Given the description of an element on the screen output the (x, y) to click on. 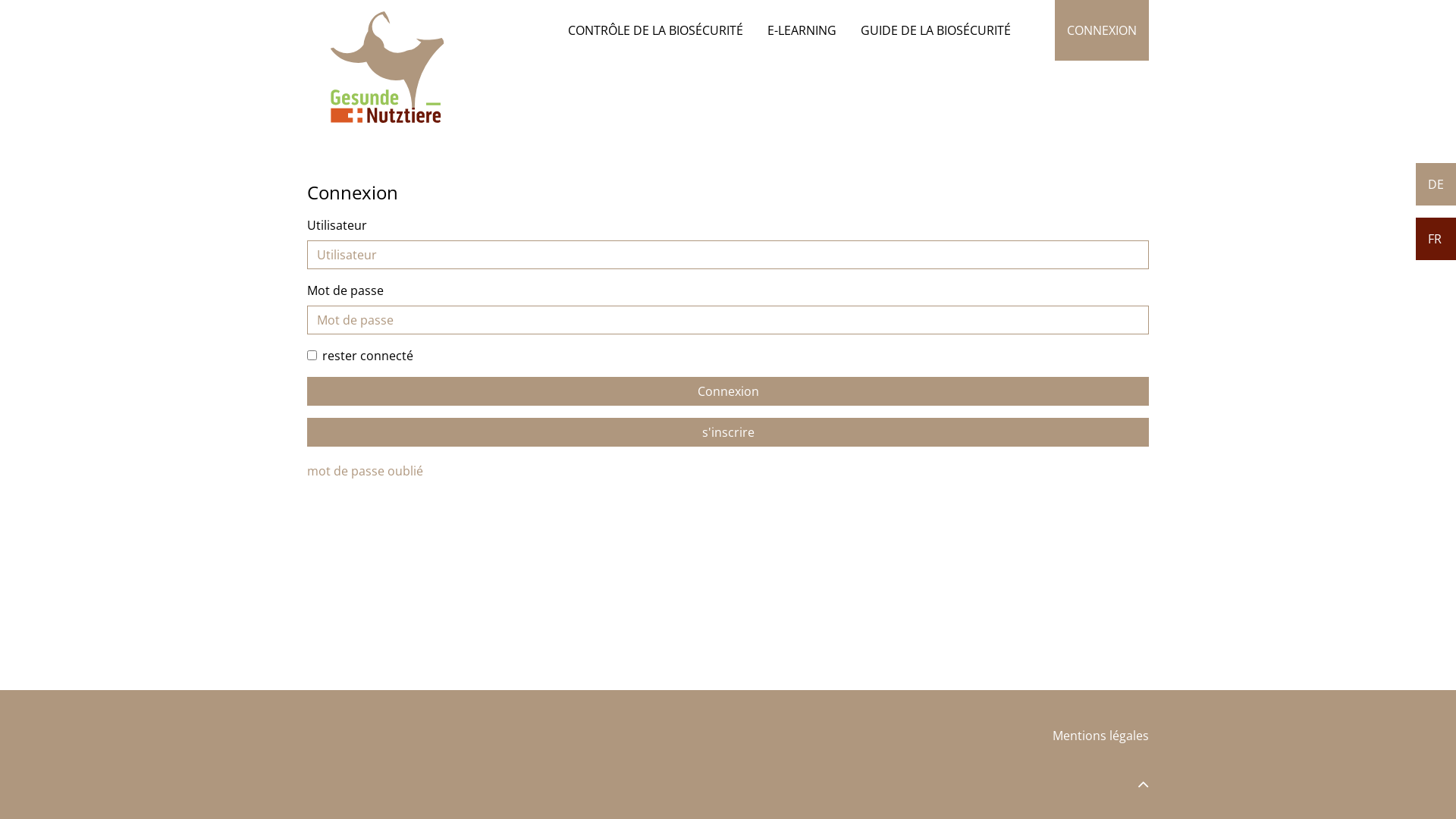
E-LEARNING Element type: text (801, 30)
s'inscrire Element type: text (727, 431)
Connexion Element type: text (727, 390)
CONNEXION Element type: text (1101, 30)
